Given the description of an element on the screen output the (x, y) to click on. 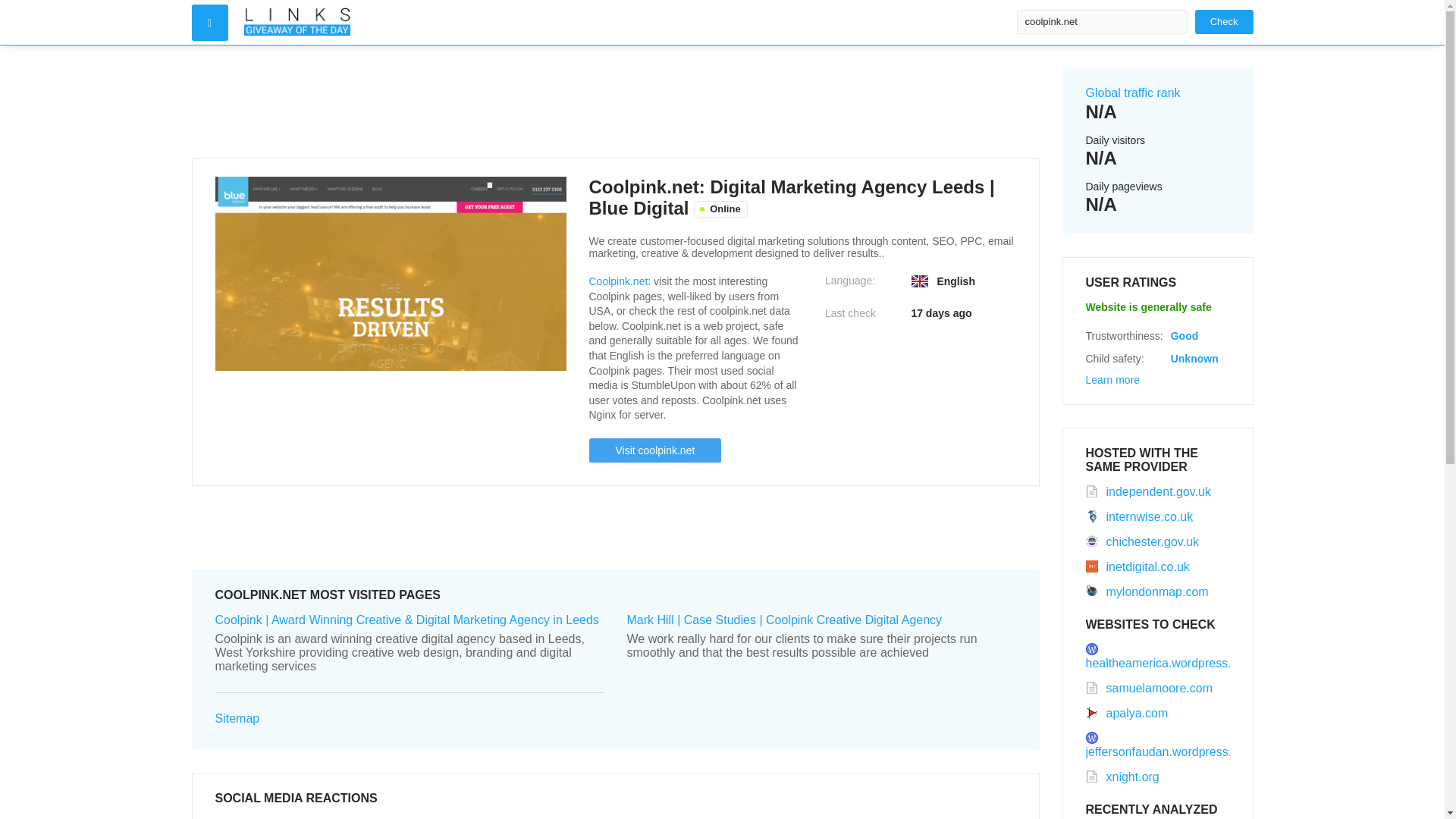
internwise.co.uk (1139, 516)
samuelamoore.com (1149, 687)
chichester.gov.uk (1142, 541)
Visit coolpink.net (654, 450)
Coolpink.net (617, 281)
Global traffic rank (1133, 92)
coolpink.net (1101, 21)
Unknown (1194, 358)
Learn more (1113, 379)
coolpink.net (1101, 21)
